Given the description of an element on the screen output the (x, y) to click on. 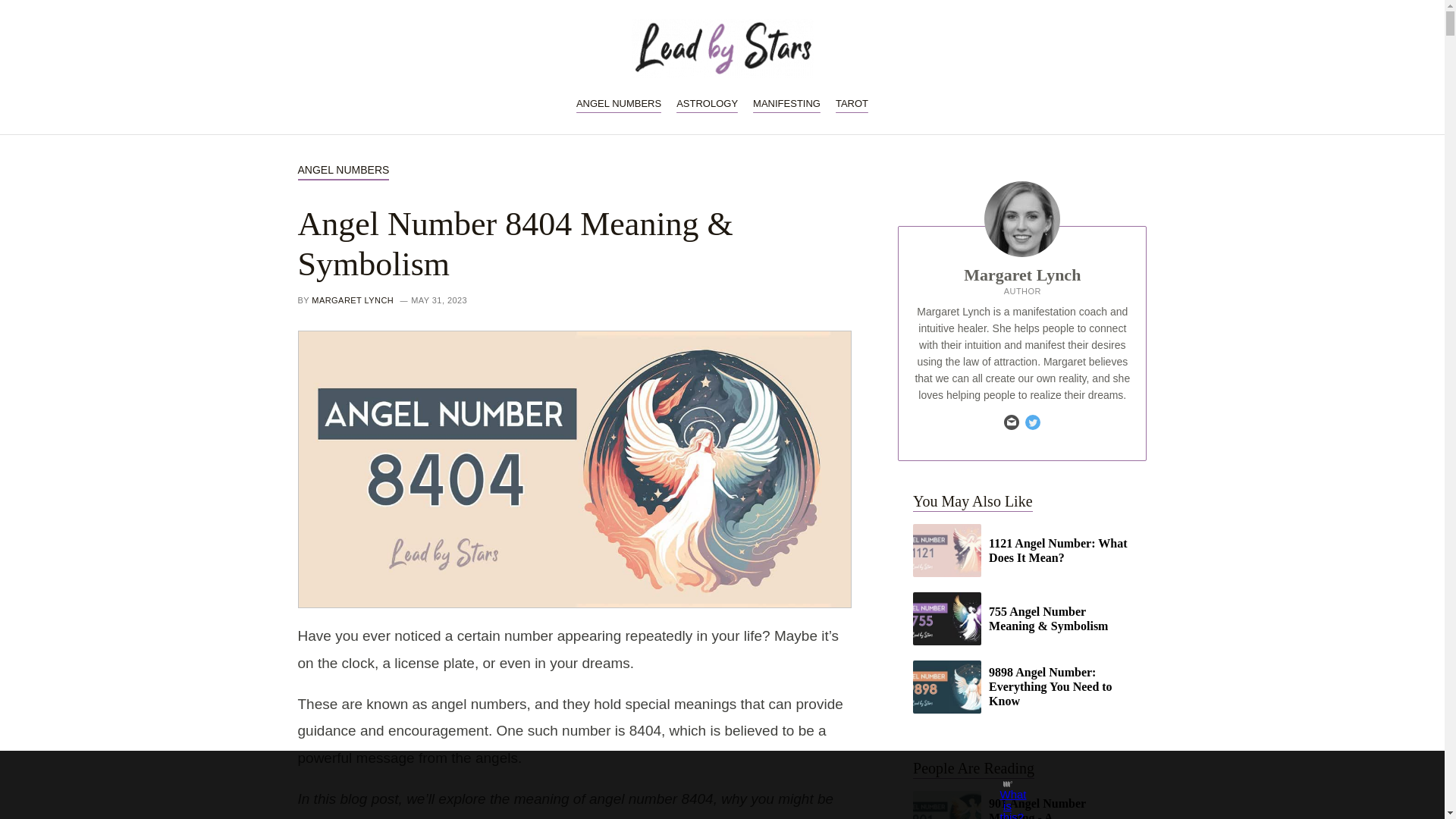
Margaret Lynch (1021, 274)
901 Angel Number Meaning - A Comprehensive Guide (1021, 805)
ASTROLOGY (707, 103)
ANGEL NUMBERS (618, 103)
9898 Angel Number: Everything You Need to Know (1021, 686)
MARGARET LYNCH (352, 299)
ANGEL NUMBERS (342, 170)
1121 Angel Number: What Does It Mean? (1021, 549)
MANIFESTING (786, 103)
TAROT (851, 103)
